Given the description of an element on the screen output the (x, y) to click on. 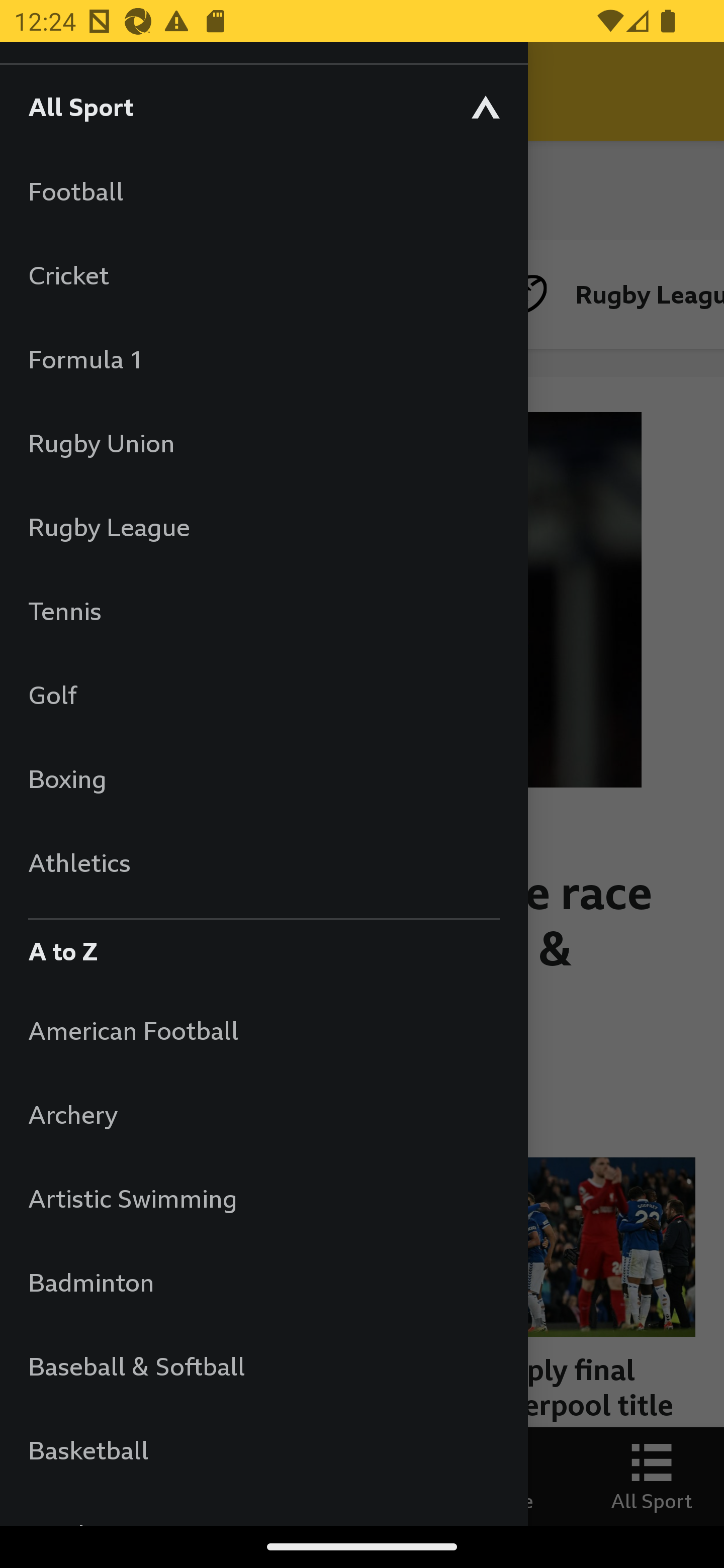
All Sport (263, 105)
Football (263, 190)
Cricket (263, 274)
Formula 1 (263, 358)
Rugby Union (263, 441)
Rugby League (263, 526)
Tennis (263, 609)
Golf (263, 694)
Boxing (263, 778)
Athletics (263, 862)
A to Z (263, 945)
American Football (263, 1029)
Archery (263, 1114)
Artistic Swimming (263, 1197)
Badminton (263, 1282)
Baseball & Softball (263, 1365)
Basketball (263, 1450)
